Given the description of an element on the screen output the (x, y) to click on. 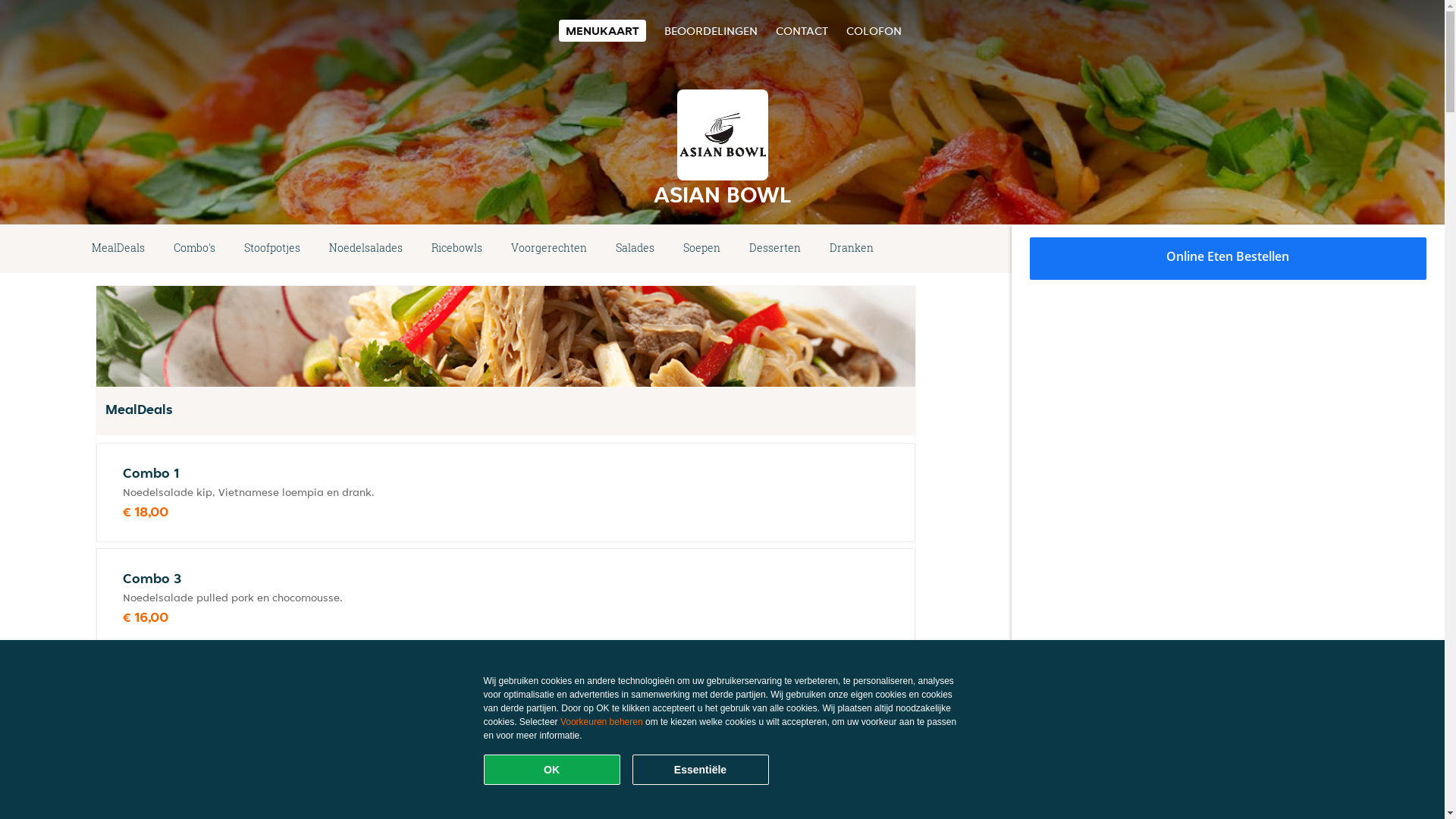
Voorkeuren beheren Element type: text (601, 721)
Dranken Element type: text (851, 248)
Desserten Element type: text (774, 248)
CONTACT Element type: text (801, 30)
Stoofpotjes Element type: text (271, 248)
OK Element type: text (551, 769)
Ricebowls Element type: text (456, 248)
Online Eten Bestellen Element type: text (1228, 258)
Soepen Element type: text (701, 248)
COLOFON Element type: text (873, 30)
Combo's Element type: text (194, 248)
Noedelsalades Element type: text (365, 248)
MENUKAART Element type: text (601, 30)
Salades Element type: text (634, 248)
MealDeals Element type: text (118, 248)
BEOORDELINGEN Element type: text (710, 30)
Voorgerechten Element type: text (548, 248)
